Given the description of an element on the screen output the (x, y) to click on. 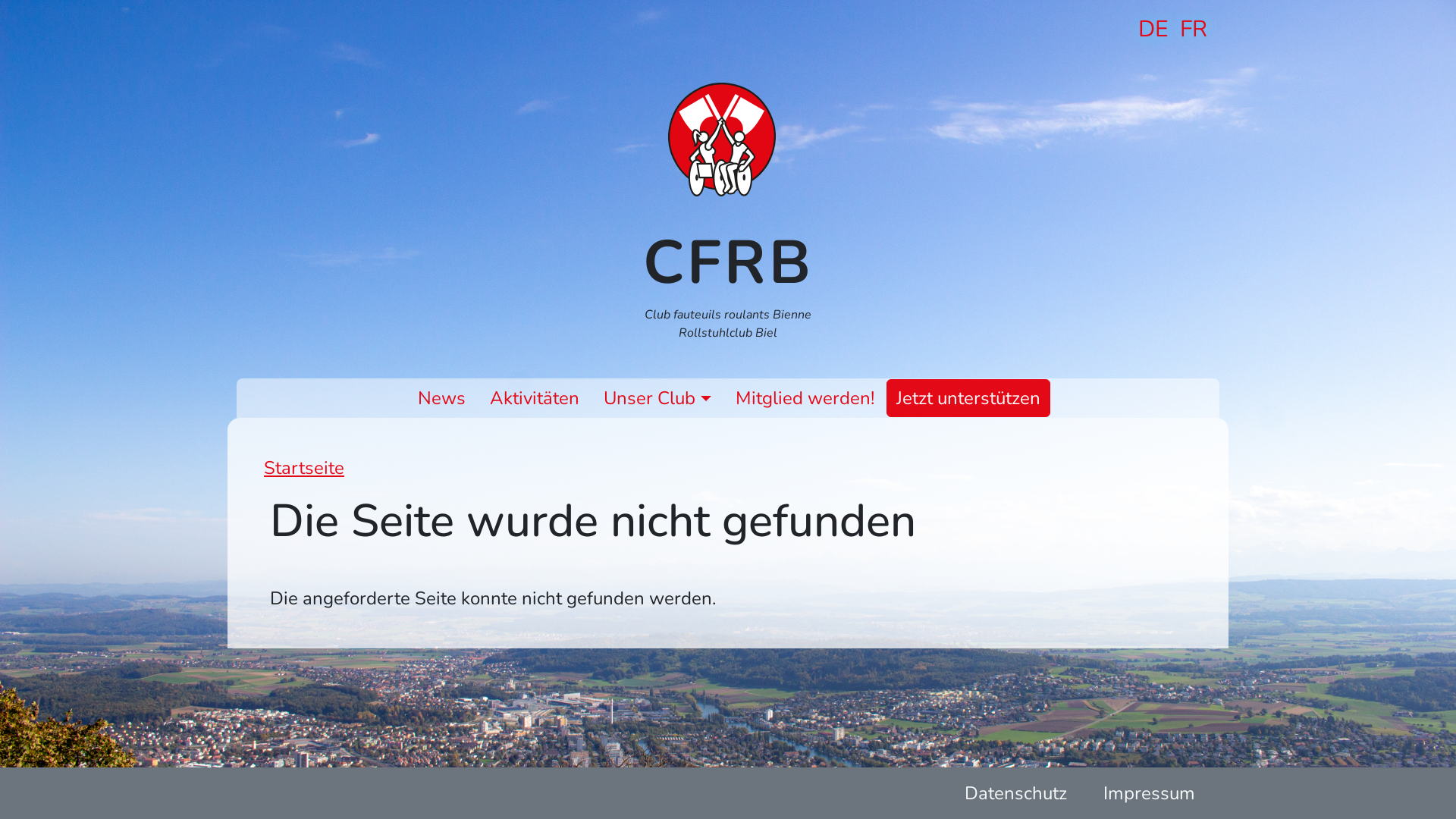
FR Element type: text (1193, 28)
Unser Club Element type: text (656, 397)
Datenschutz Element type: text (1015, 792)
Startseite Element type: hover (727, 139)
News Element type: text (441, 397)
Mitglied werden! Element type: text (804, 397)
Startseite Element type: text (303, 467)
CFRB Element type: text (728, 262)
Impressum Element type: text (1149, 792)
DE Element type: text (1152, 28)
